Given the description of an element on the screen output the (x, y) to click on. 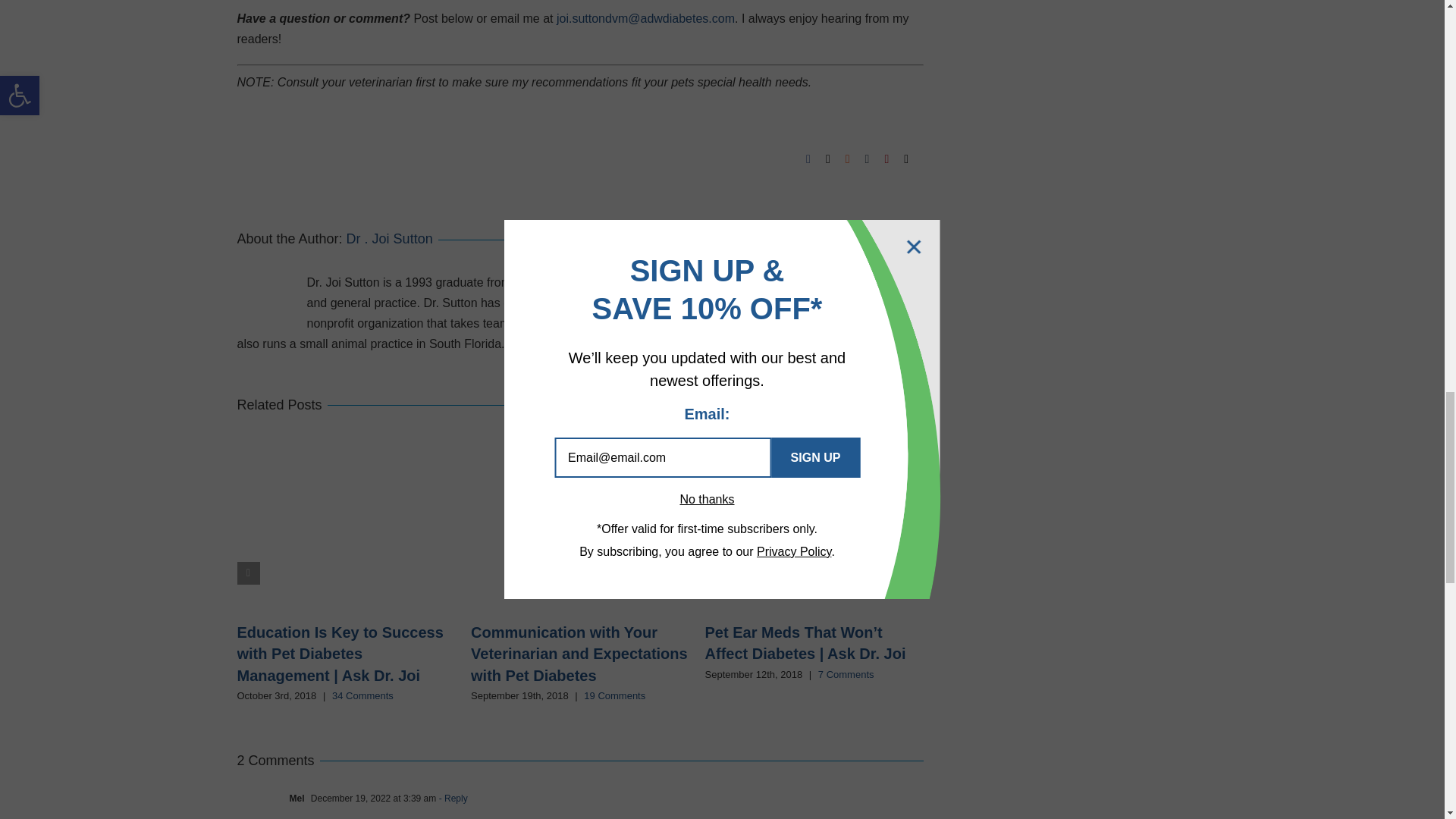
Facebook (808, 159)
Reddit (847, 159)
Email (906, 159)
Pinterest (885, 159)
X (827, 159)
Email Me (645, 18)
Tumblr (866, 159)
Posts by Dr . Joi Sutton (389, 238)
